Given the description of an element on the screen output the (x, y) to click on. 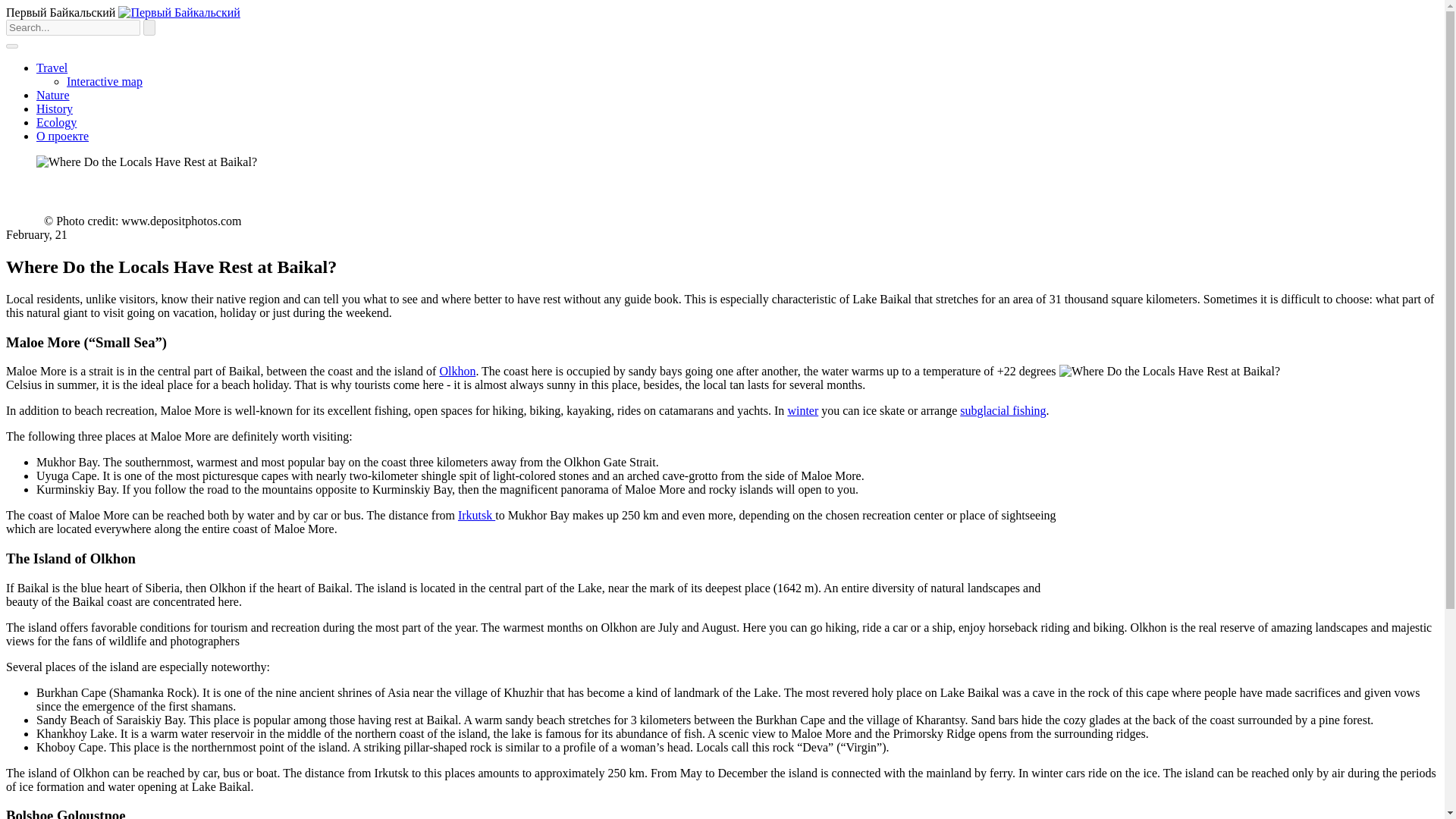
Olkhon (457, 370)
Irkutsk (476, 514)
Nature (52, 94)
Interactive map (104, 81)
History (54, 108)
Ecology (56, 122)
subglacial fishing (1002, 410)
winter (802, 410)
Travel (51, 67)
